Given the description of an element on the screen output the (x, y) to click on. 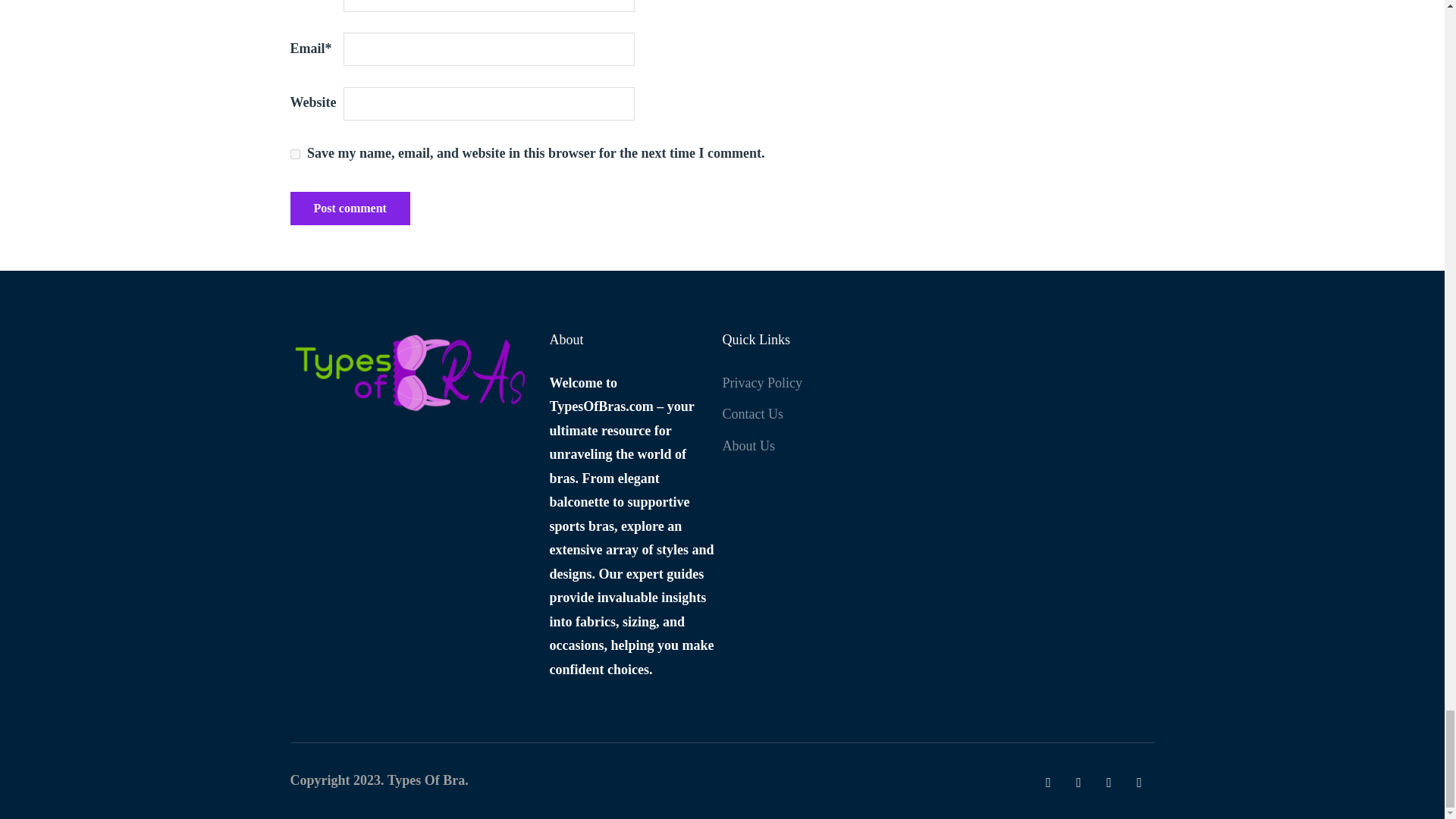
Post comment (349, 208)
yes (294, 153)
